Given the description of an element on the screen output the (x, y) to click on. 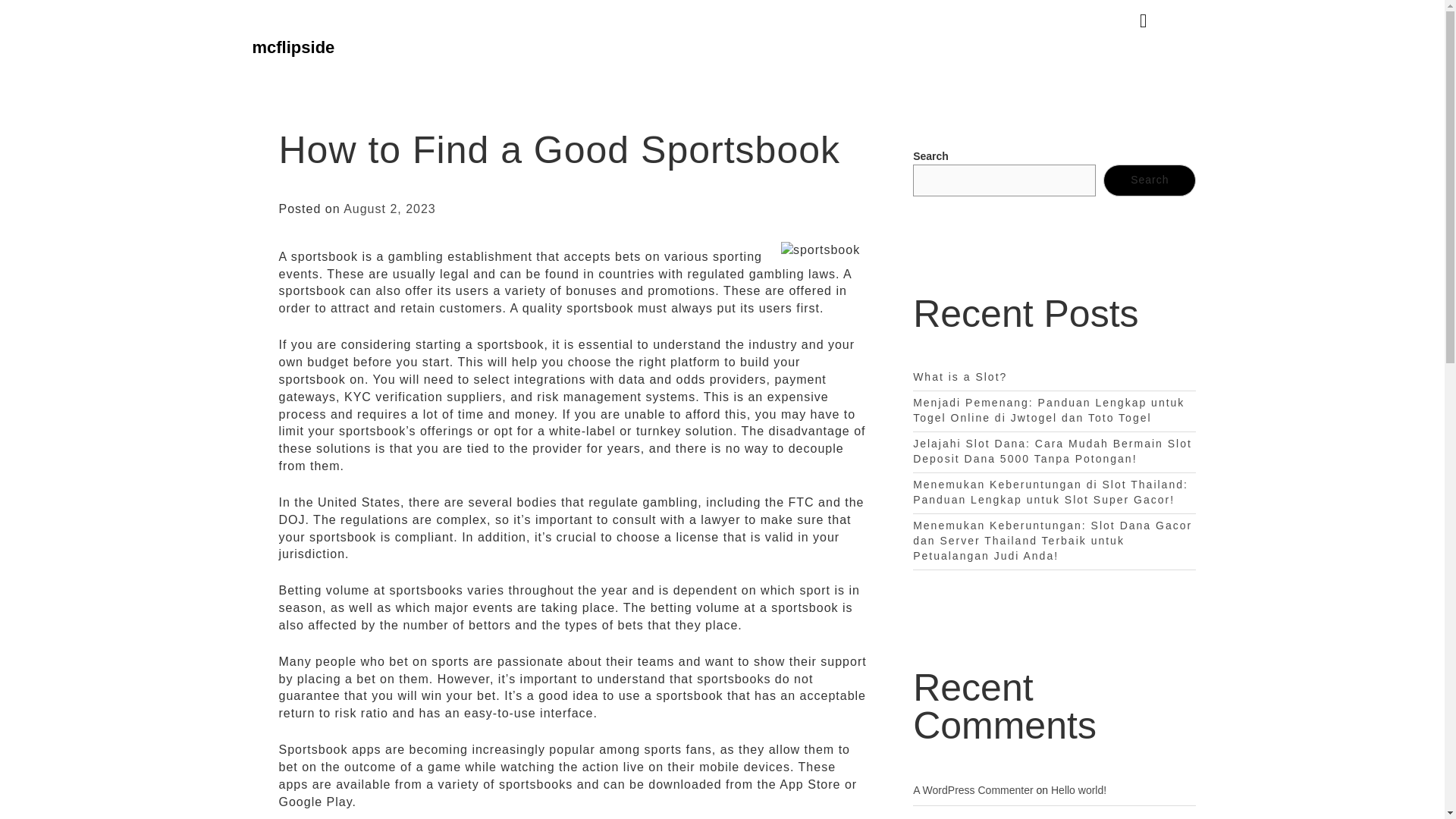
August 2, 2023 (389, 208)
What is a Slot? (959, 377)
Search (1149, 180)
Hello world! (1078, 789)
A WordPress Commenter (972, 789)
mcflipside (292, 46)
